Given the description of an element on the screen output the (x, y) to click on. 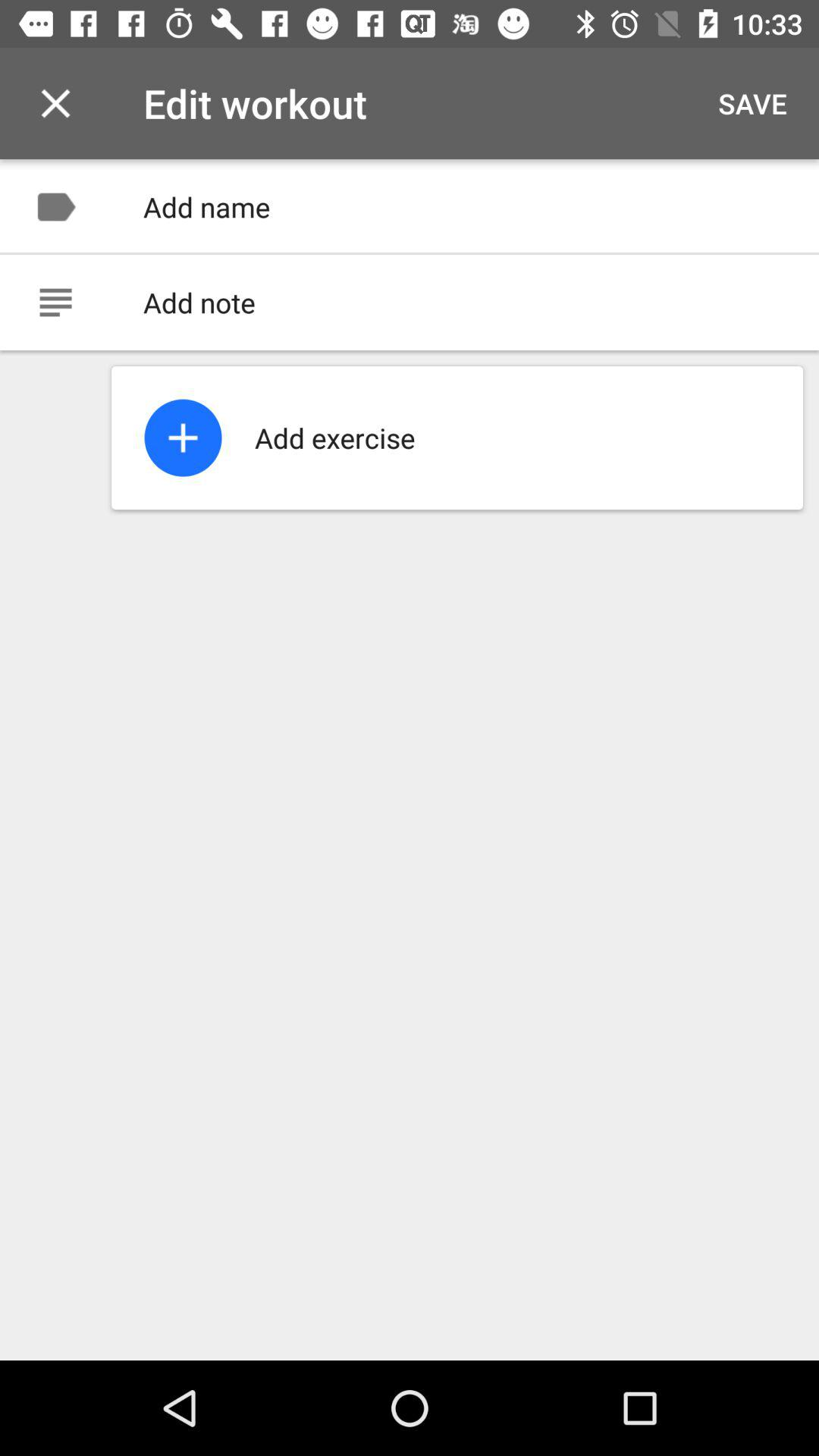
choose the save (752, 103)
